Given the description of an element on the screen output the (x, y) to click on. 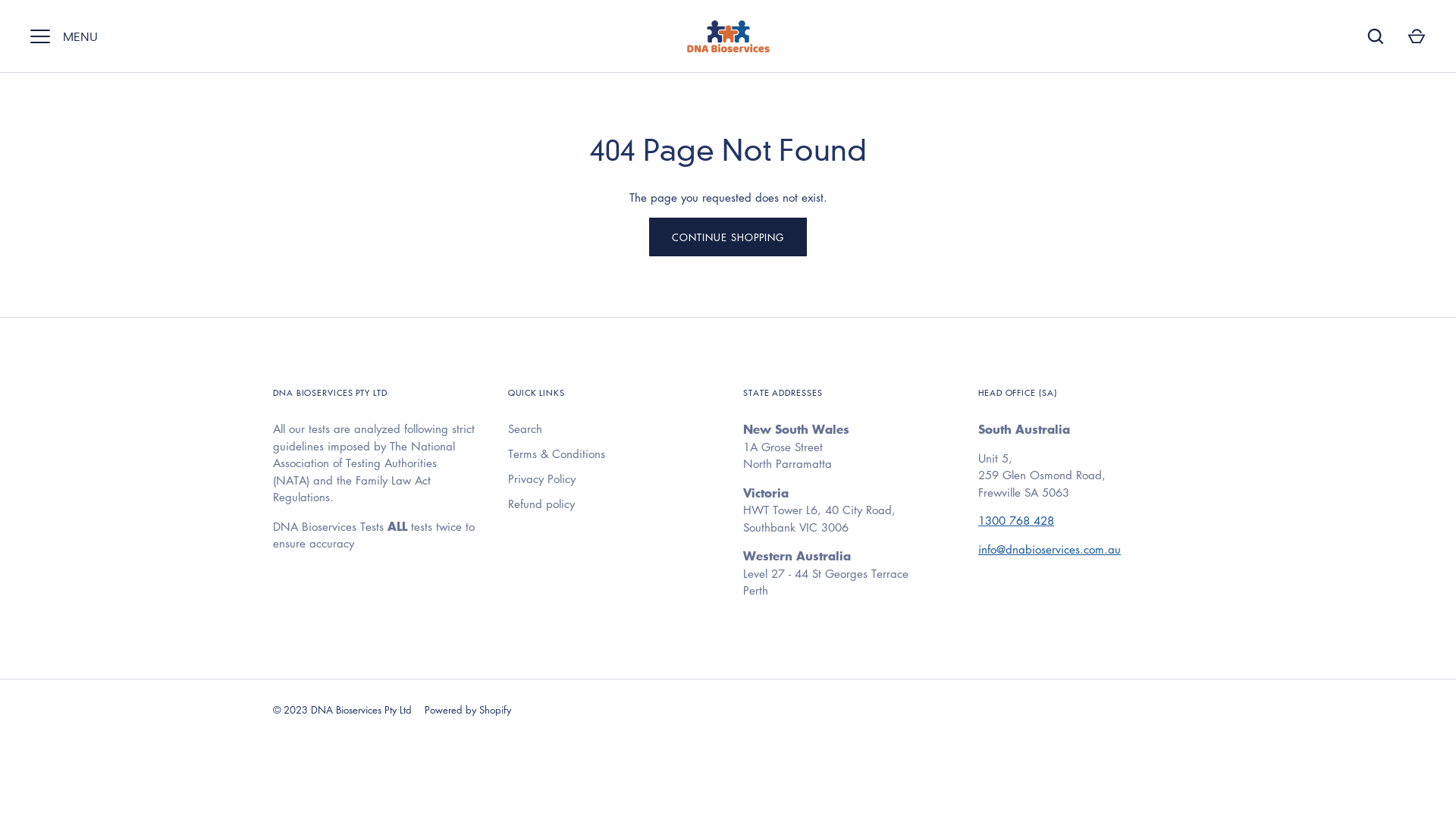
Refund policy Element type: text (541, 503)
Terms & Conditions Element type: text (556, 453)
MENU Element type: text (39, 36)
CONTINUE SHOPPING Element type: text (728, 237)
Privacy Policy Element type: text (541, 478)
1300 768 428 Element type: text (1016, 519)
info@dnabioservices.com.au Element type: text (1049, 548)
Powered by Shopify Element type: text (467, 709)
Search Element type: text (525, 428)
